Given the description of an element on the screen output the (x, y) to click on. 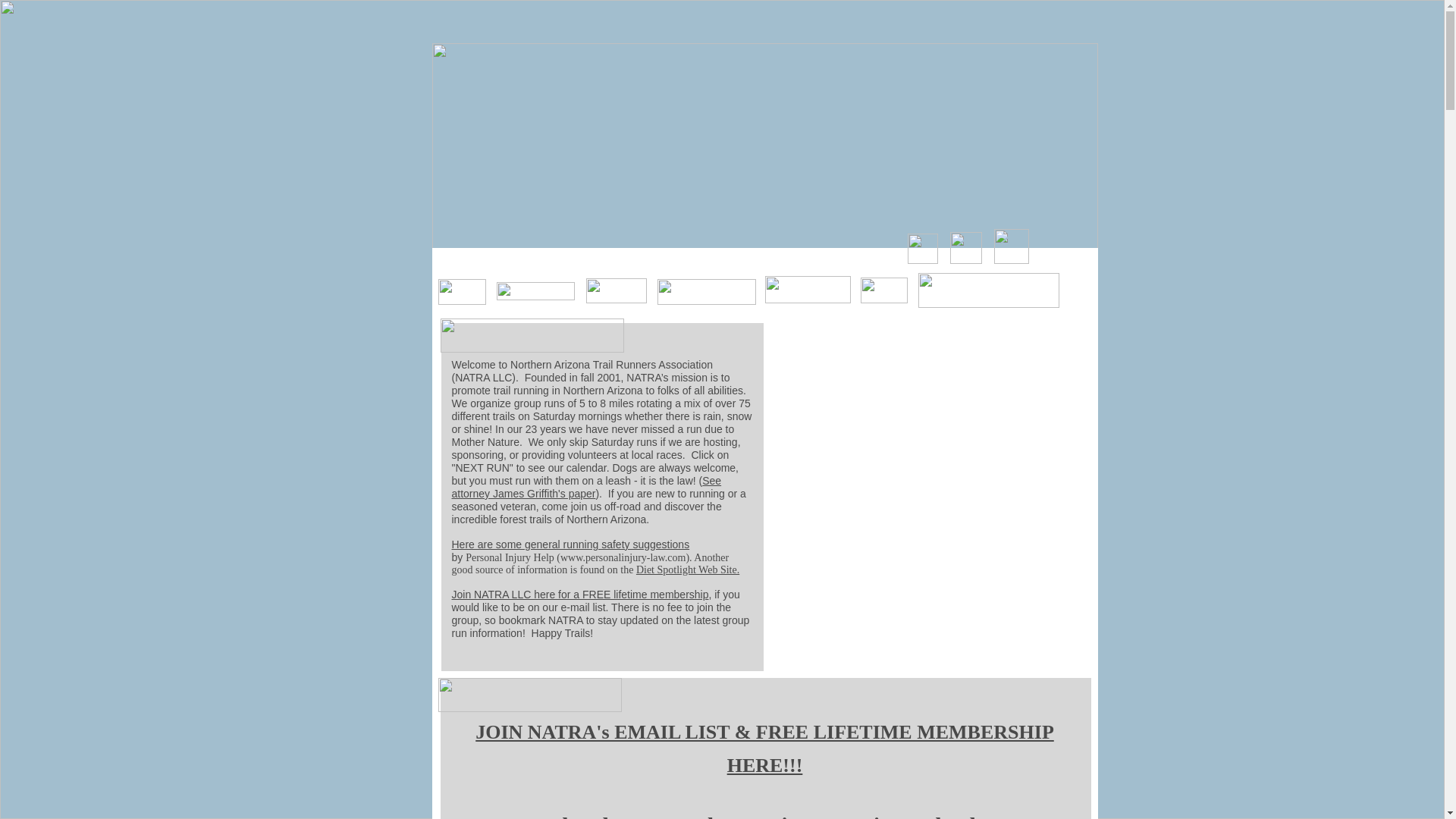
See attorney James Griffith's paper (586, 487)
wearenatra.png (531, 335)
Diet Spotlight Web Site. (687, 569)
podcast.jpg (987, 289)
Join NATRA LLC here for a FREE lifetime membership (580, 594)
www.personalinjury-law.com (622, 557)
Here are some general running safety suggestions (570, 544)
